Given the description of an element on the screen output the (x, y) to click on. 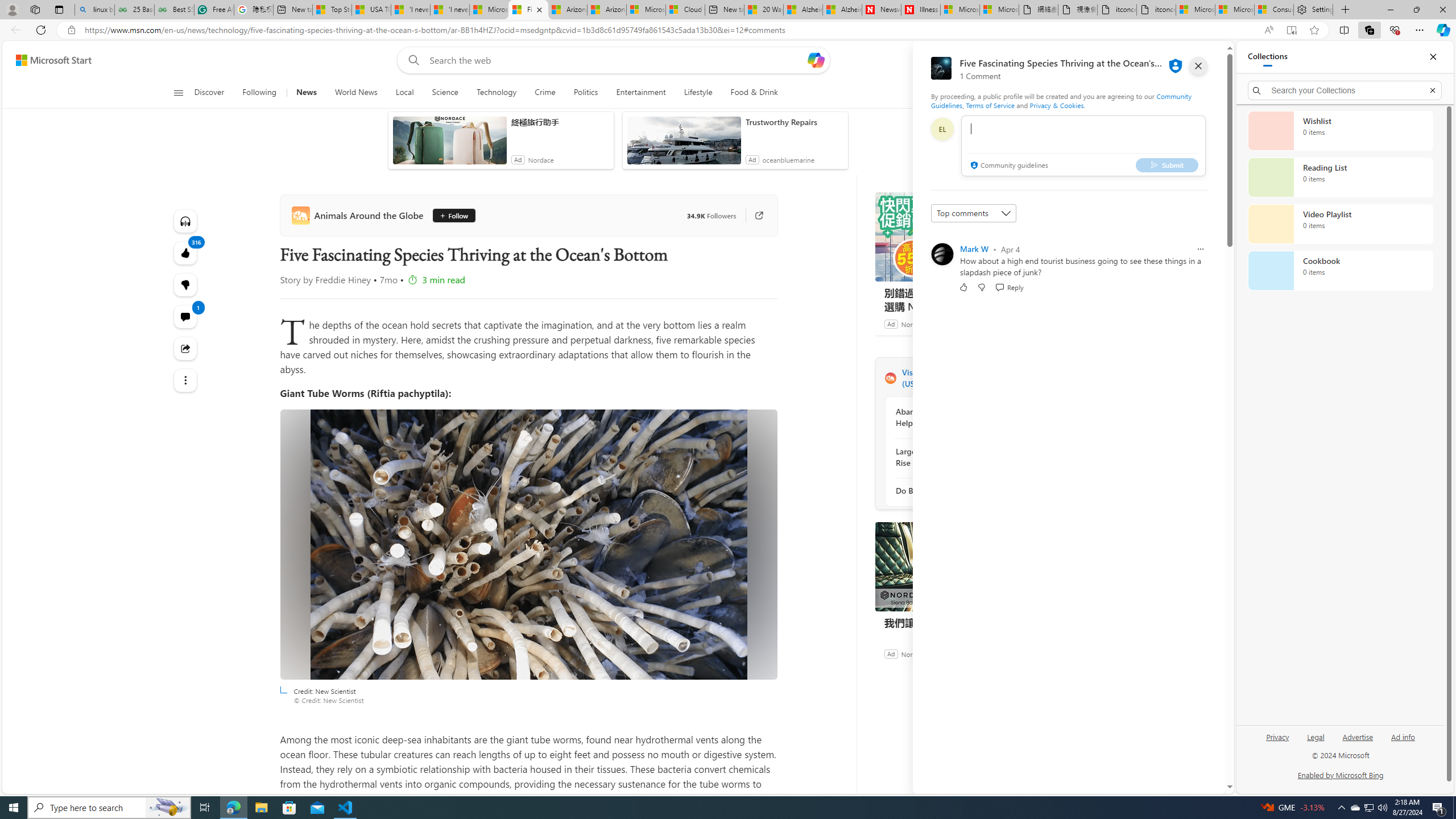
Free AI Writing Assistance for Students | Grammarly (213, 9)
Ad info (1402, 741)
View comments 1 Comment (184, 316)
Notifications (1177, 60)
Video Playlist collection, 0 items (1339, 223)
Go to publisher's site (752, 215)
Skip to content (49, 59)
Web search (411, 60)
Terms of Service (989, 104)
Privacy (1277, 741)
